Given the description of an element on the screen output the (x, y) to click on. 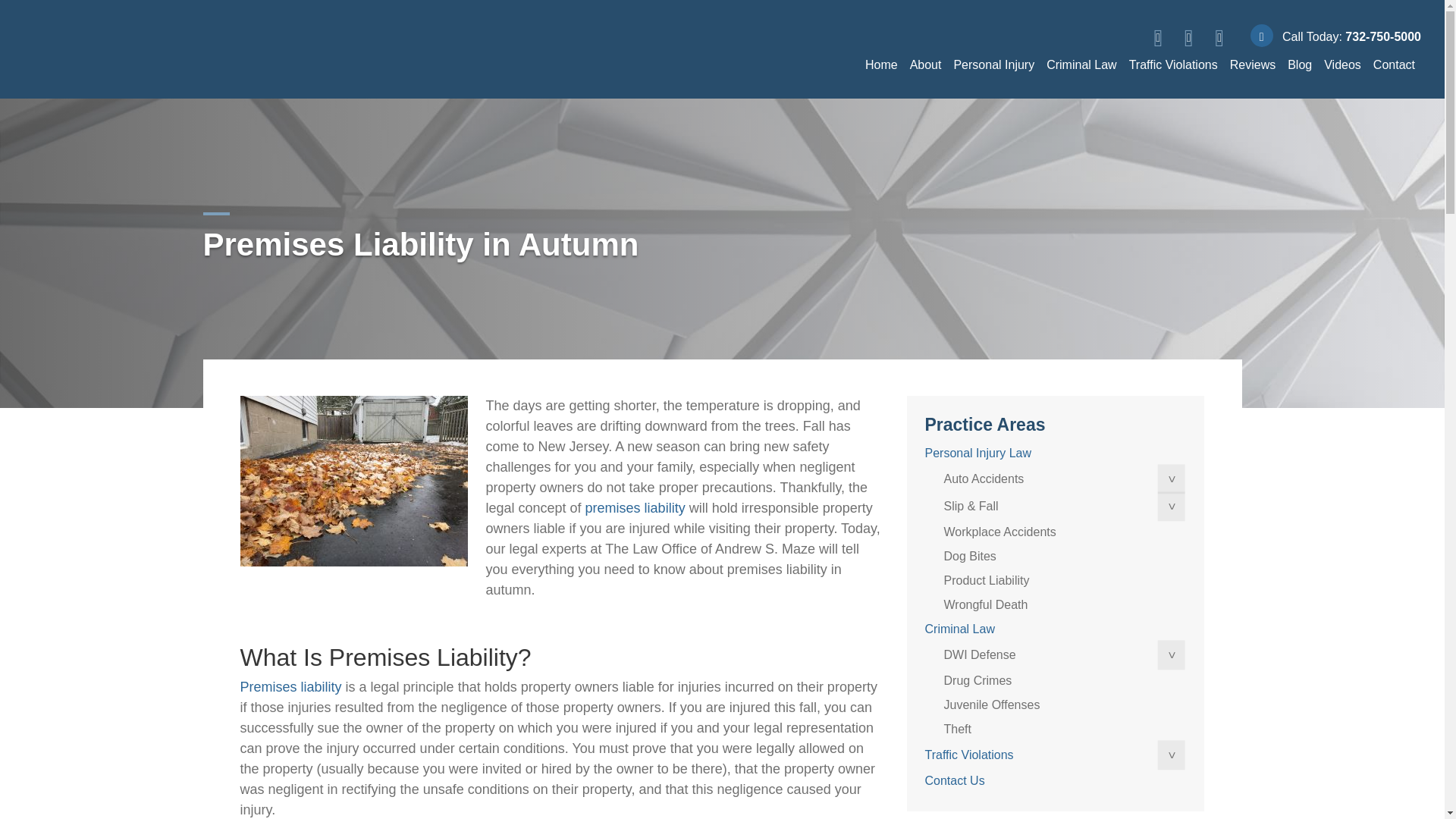
About (925, 64)
Home (881, 64)
Criminal Law (1081, 64)
732-750-5000 (1383, 36)
Personal Injury (994, 64)
